Given the description of an element on the screen output the (x, y) to click on. 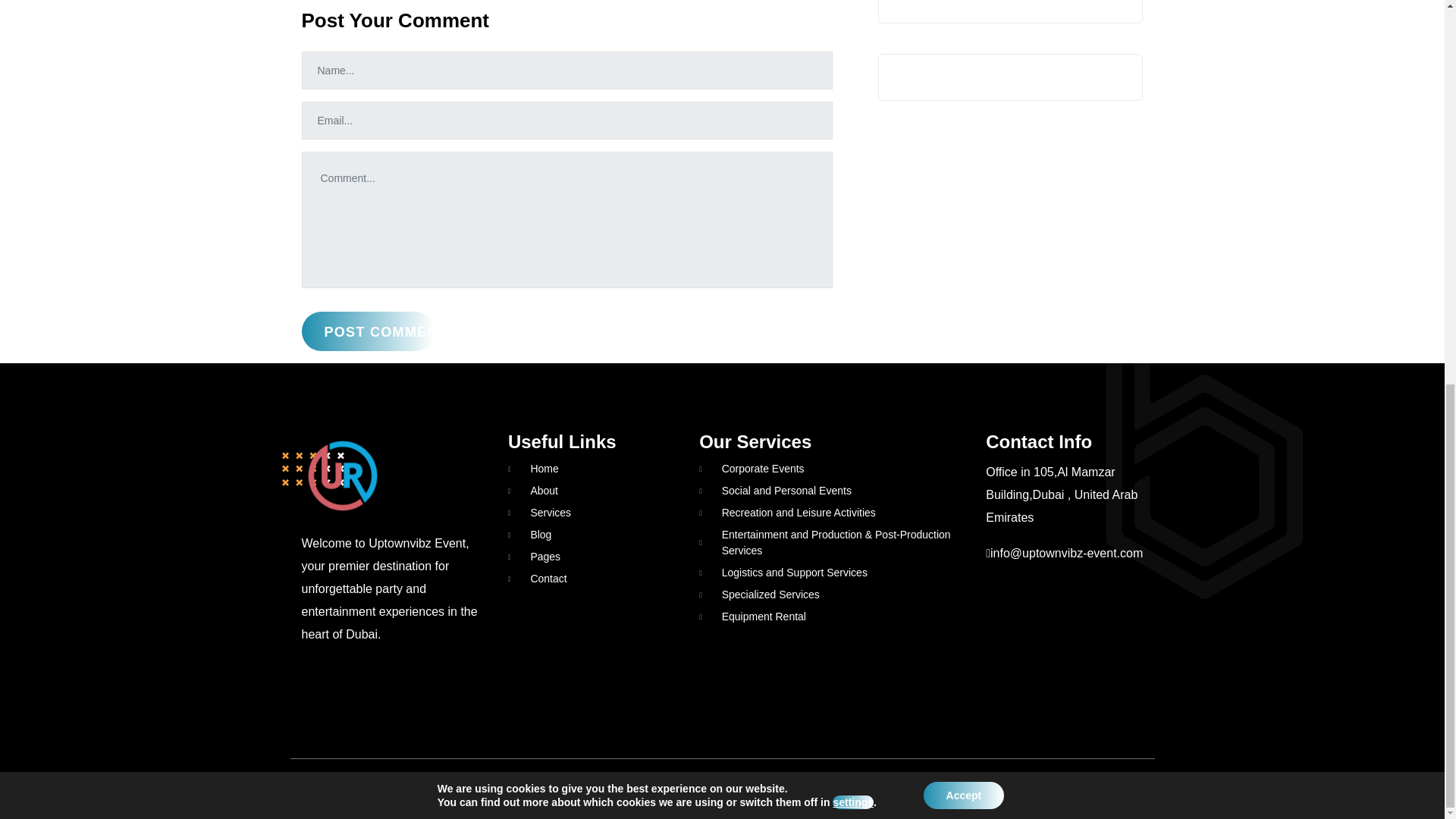
Post comment (367, 331)
Accept (963, 72)
UPTOWNVIBZ (720, 779)
settings (852, 79)
Post comment (367, 331)
